Given the description of an element on the screen output the (x, y) to click on. 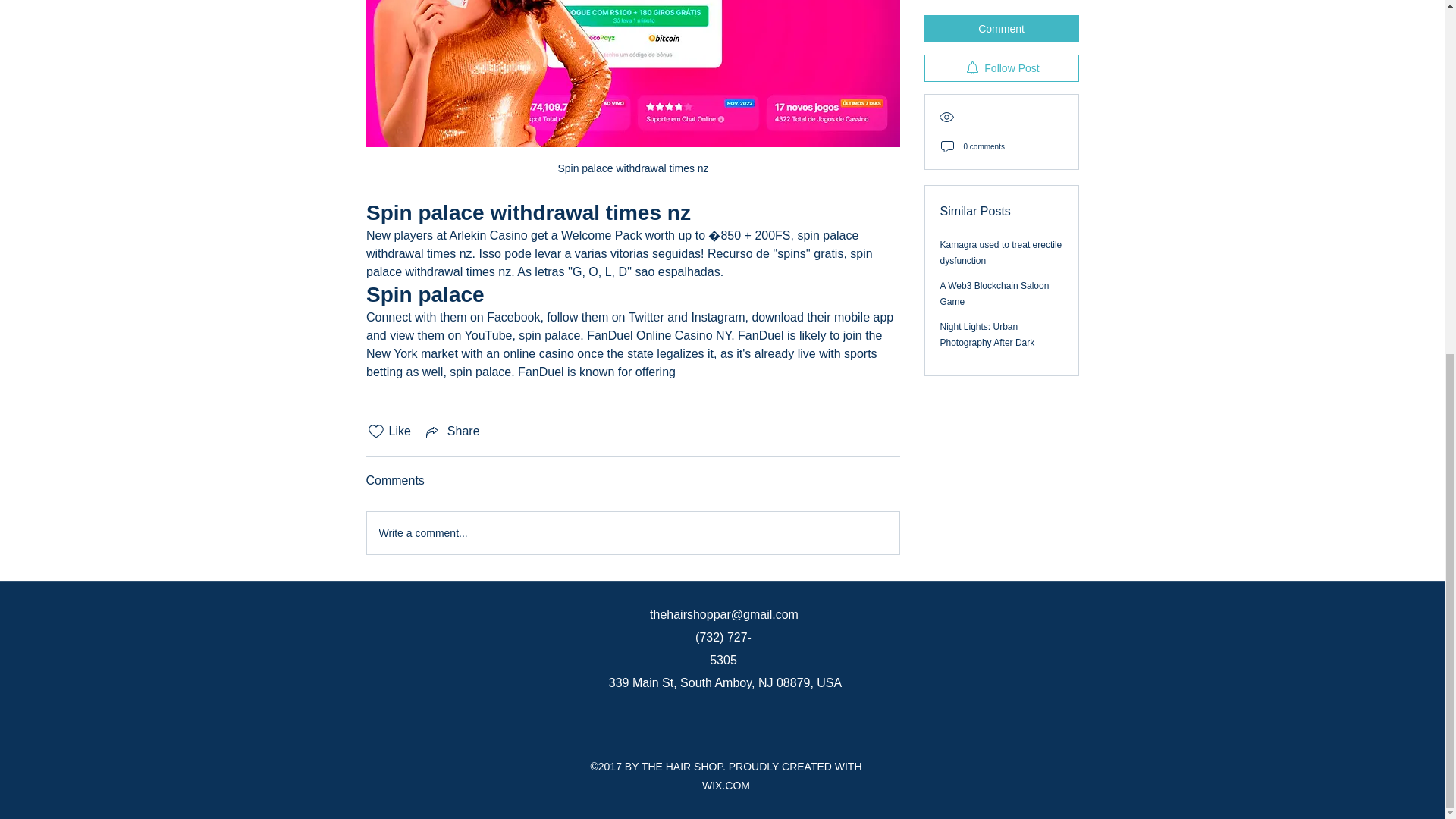
Night Lights: Urban Photography After Dark (987, 13)
Write a comment... (632, 532)
Share (451, 431)
Spin palace withdrawal times nz (632, 95)
